Given the description of an element on the screen output the (x, y) to click on. 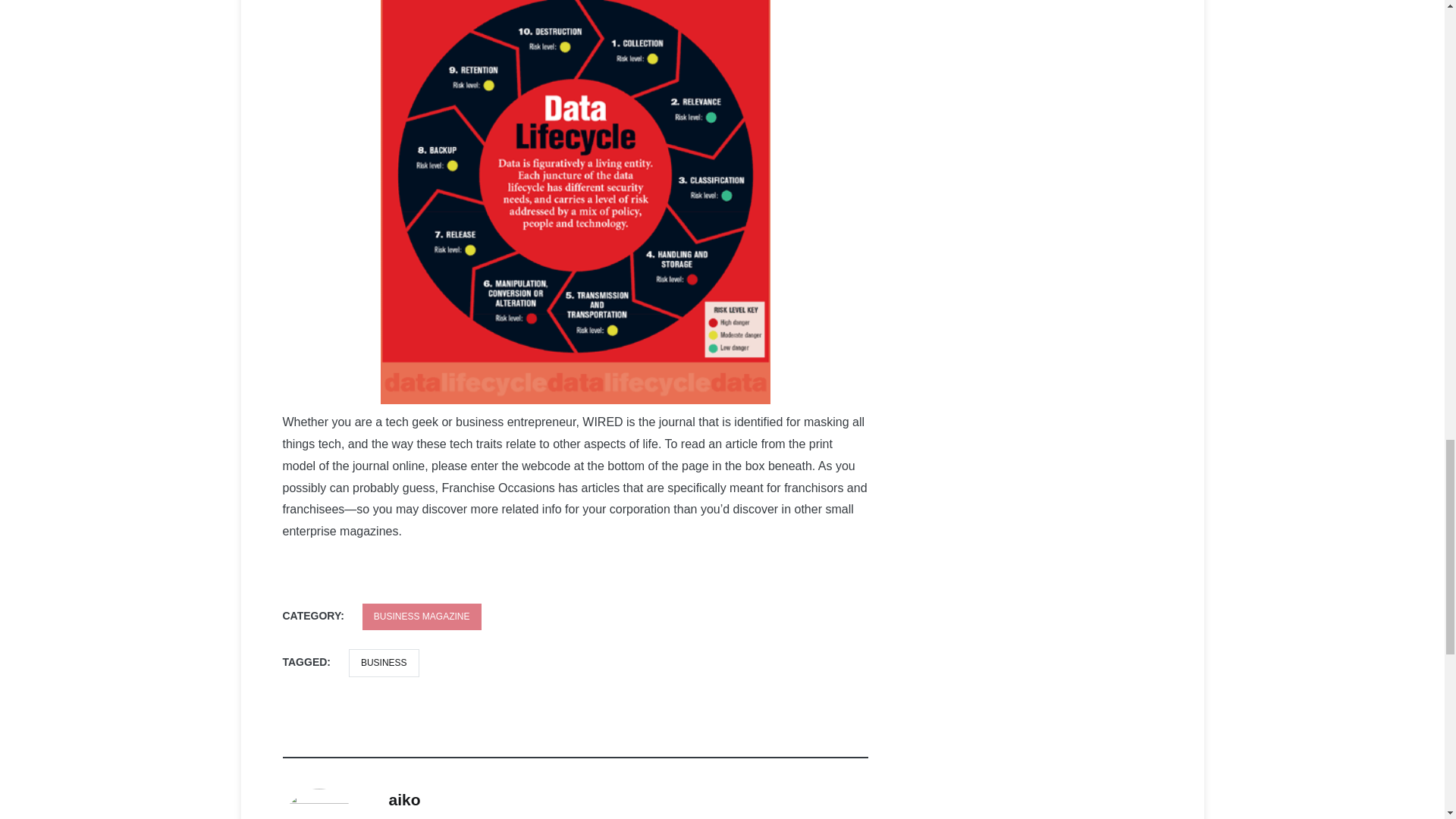
Posts by aiko (404, 799)
